Given the description of an element on the screen output the (x, y) to click on. 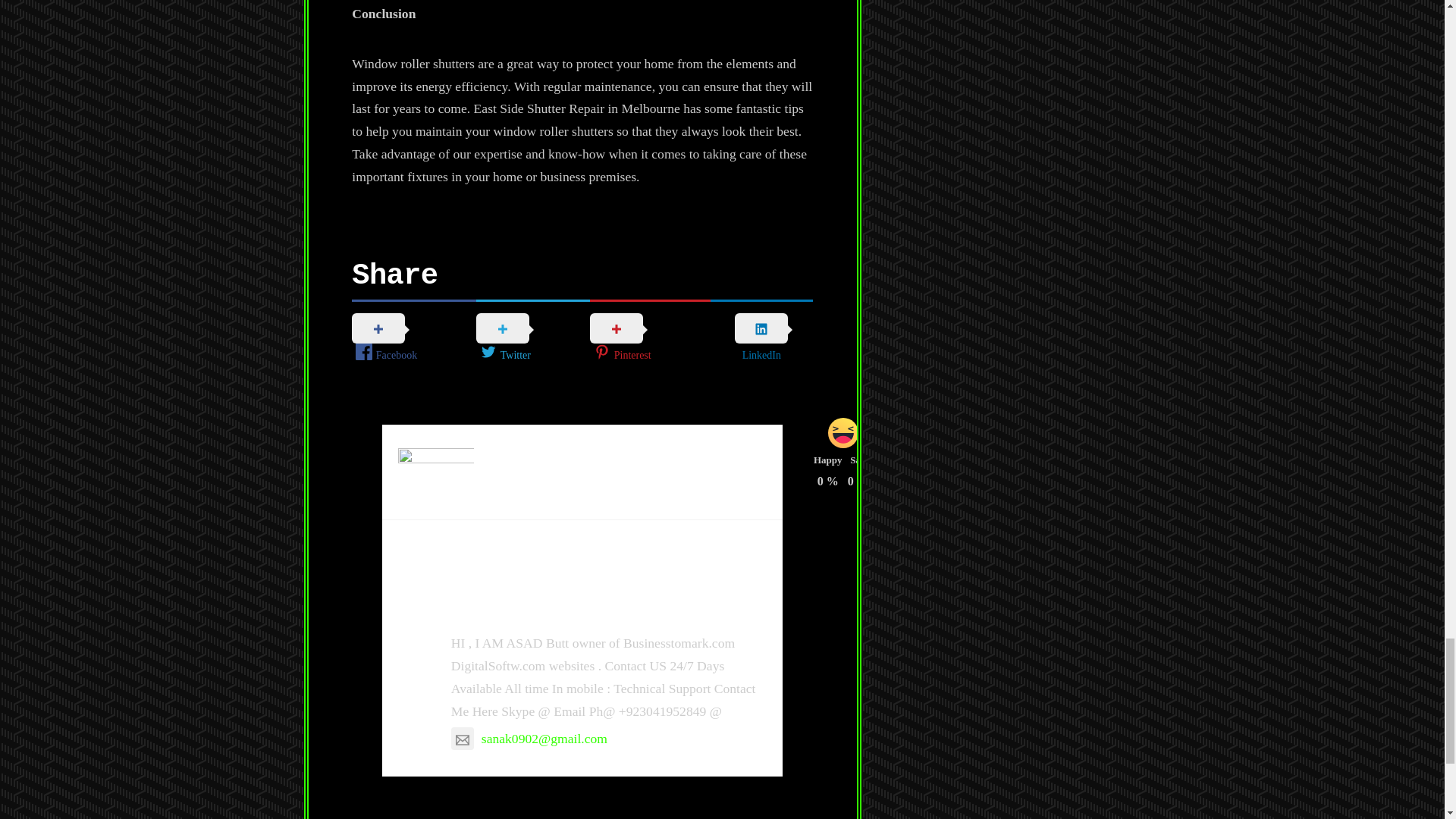
Twitter (532, 339)
Facebook (414, 339)
Pinterest (649, 339)
asad butt (500, 606)
LinkedIn (761, 338)
